Given the description of an element on the screen output the (x, y) to click on. 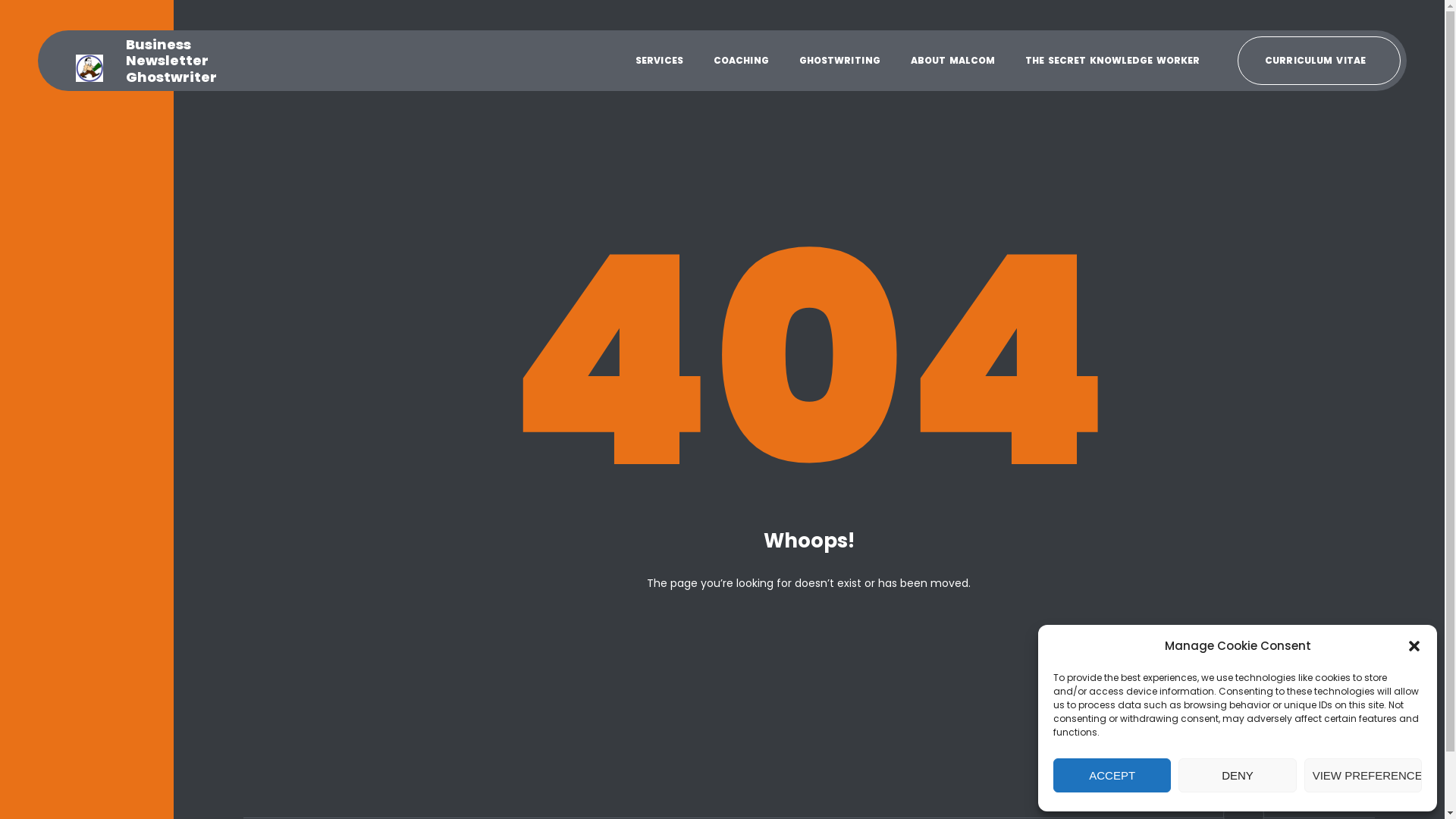
SERVICES Element type: text (659, 60)
DENY Element type: text (1236, 775)
VIEW PREFERENCES Element type: text (1362, 775)
ACCEPT Element type: text (1111, 775)
THE SECRET KNOWLEDGE WORKER Element type: text (1112, 60)
GHOSTWRITING Element type: text (839, 60)
COACHING Element type: text (740, 60)
CURRICULUM VITAE Element type: text (1318, 60)
Business Newsletter Ghostwriter Element type: text (149, 60)
ABOUT MALCOM Element type: text (952, 60)
